Given the description of an element on the screen output the (x, y) to click on. 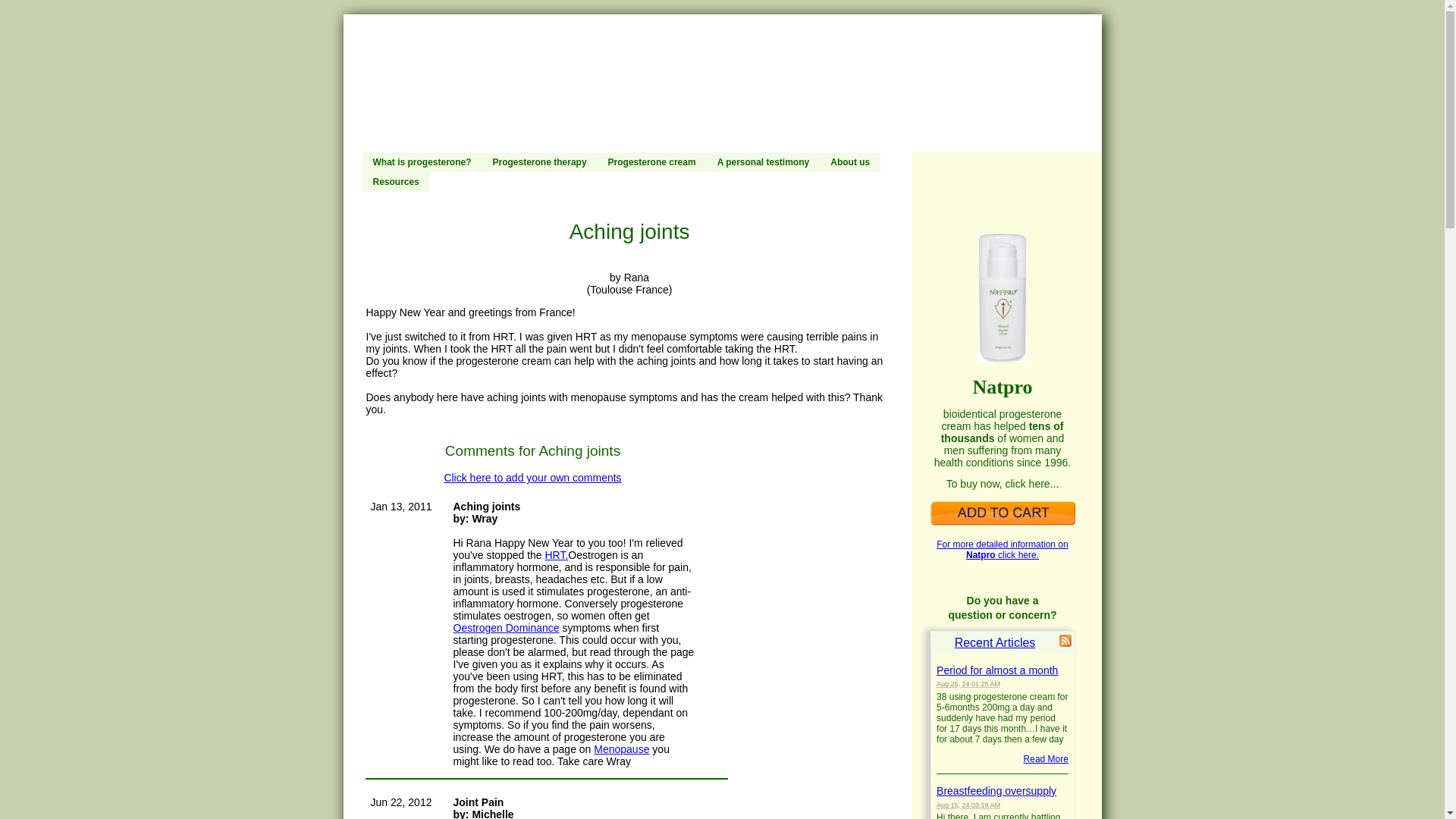
Natpro progesterone cream (1002, 513)
2024-08-15T03:19:20-0400 (968, 805)
2024-08-26T01:25:22-0400 (968, 683)
